Given the description of an element on the screen output the (x, y) to click on. 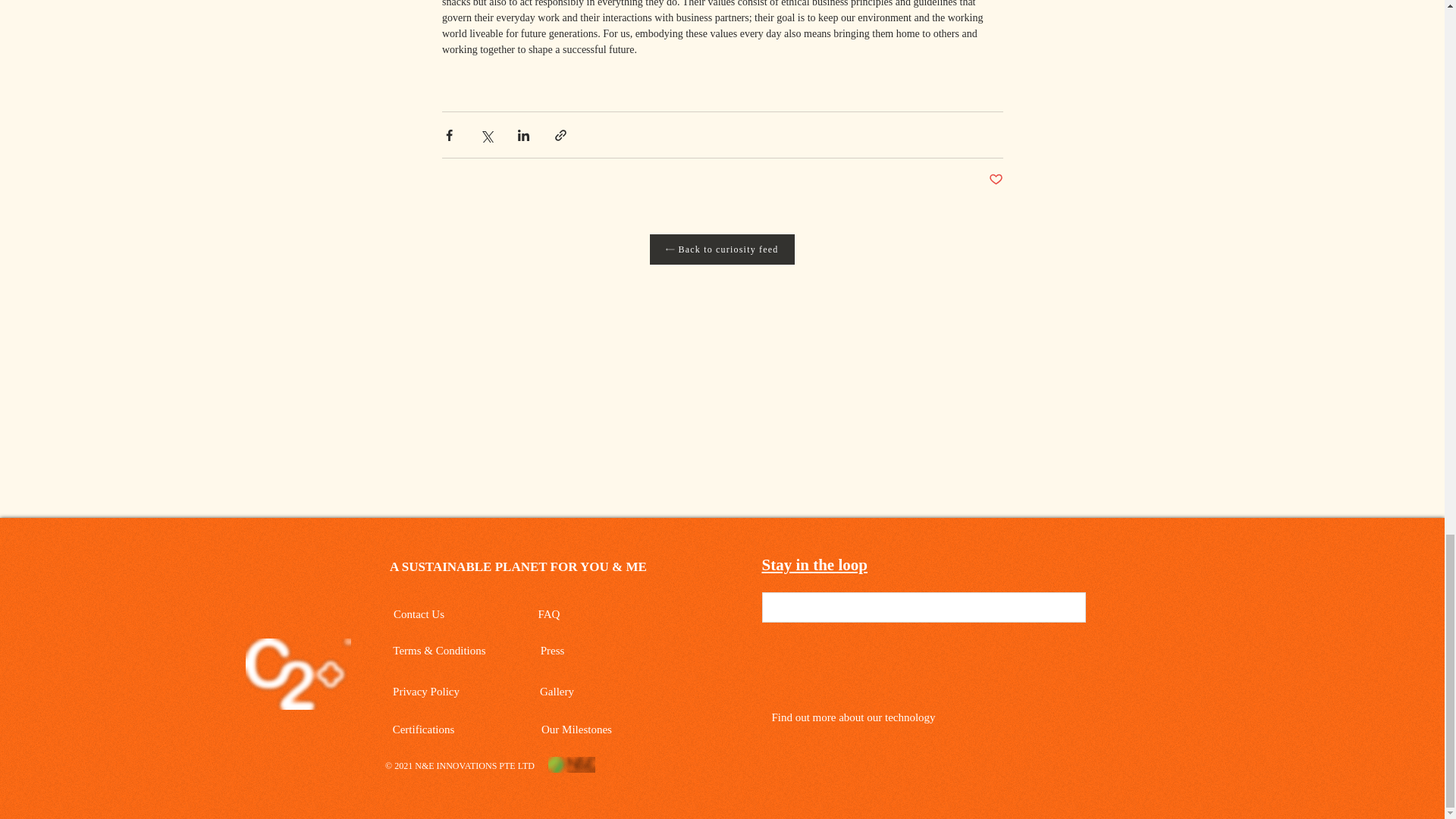
FAQ (550, 614)
Our Milestones (577, 729)
Gallery (558, 691)
Stay in the loop (813, 564)
Find out more about our technology (855, 717)
Back to curiosity feed (721, 249)
Submit (1048, 608)
Press (553, 650)
Contact Us (419, 614)
Certifications (425, 729)
Post not marked as liked (995, 179)
Privacy Policy (427, 691)
